Given the description of an element on the screen output the (x, y) to click on. 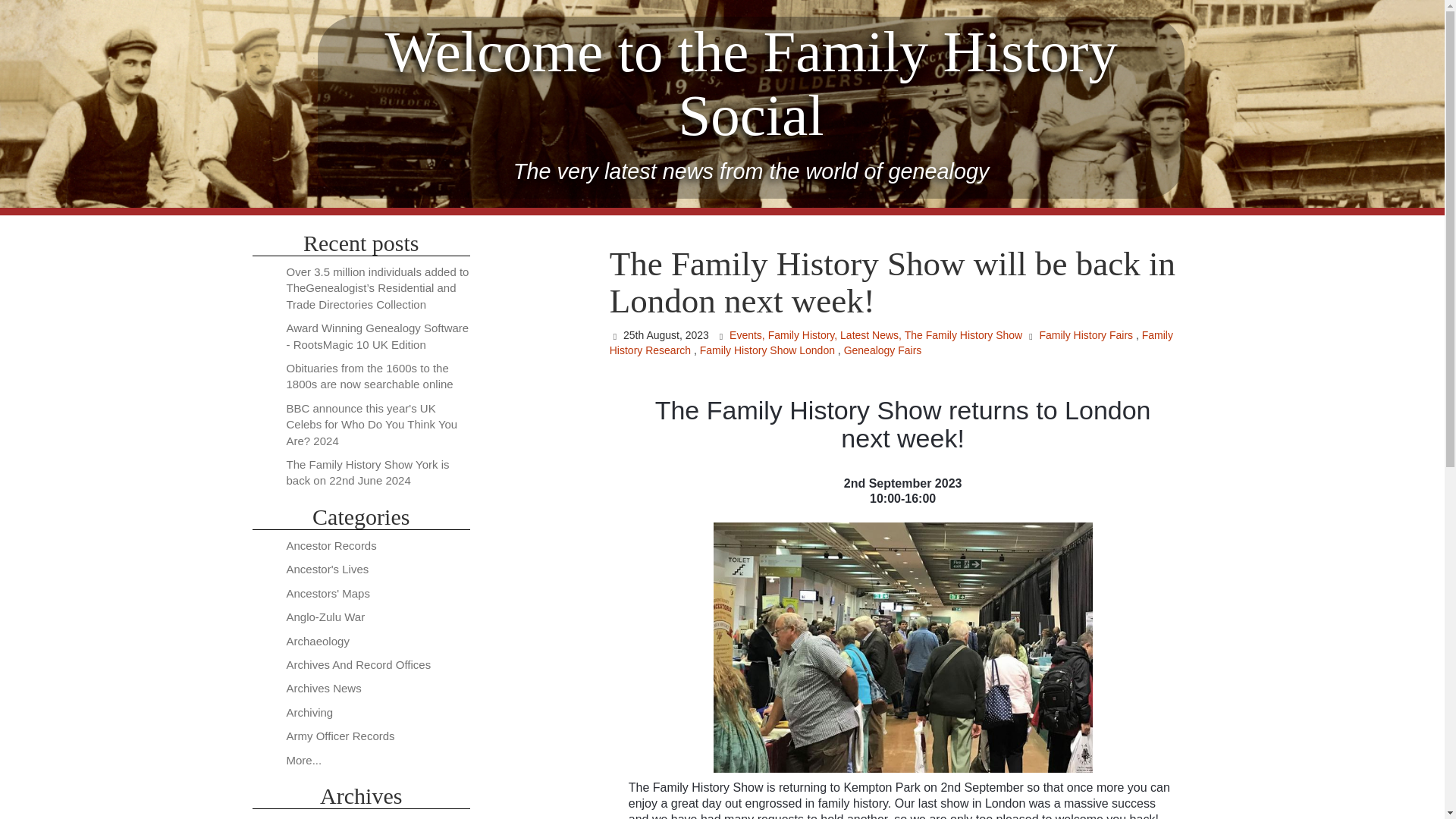
Anglo-Zulu War (325, 616)
Ancestor Records (331, 545)
Archiving (309, 712)
Ancestors' Maps (327, 593)
Archives And Record Offices (358, 664)
Archaeology (317, 640)
The Family History Show York is back on 22nd June 2024 (367, 471)
Army Officer Records (340, 735)
Ancestor's Lives (327, 568)
Archives News (323, 687)
Award Winning Genealogy Software - RootsMagic 10 UK Edition (377, 335)
